Given the description of an element on the screen output the (x, y) to click on. 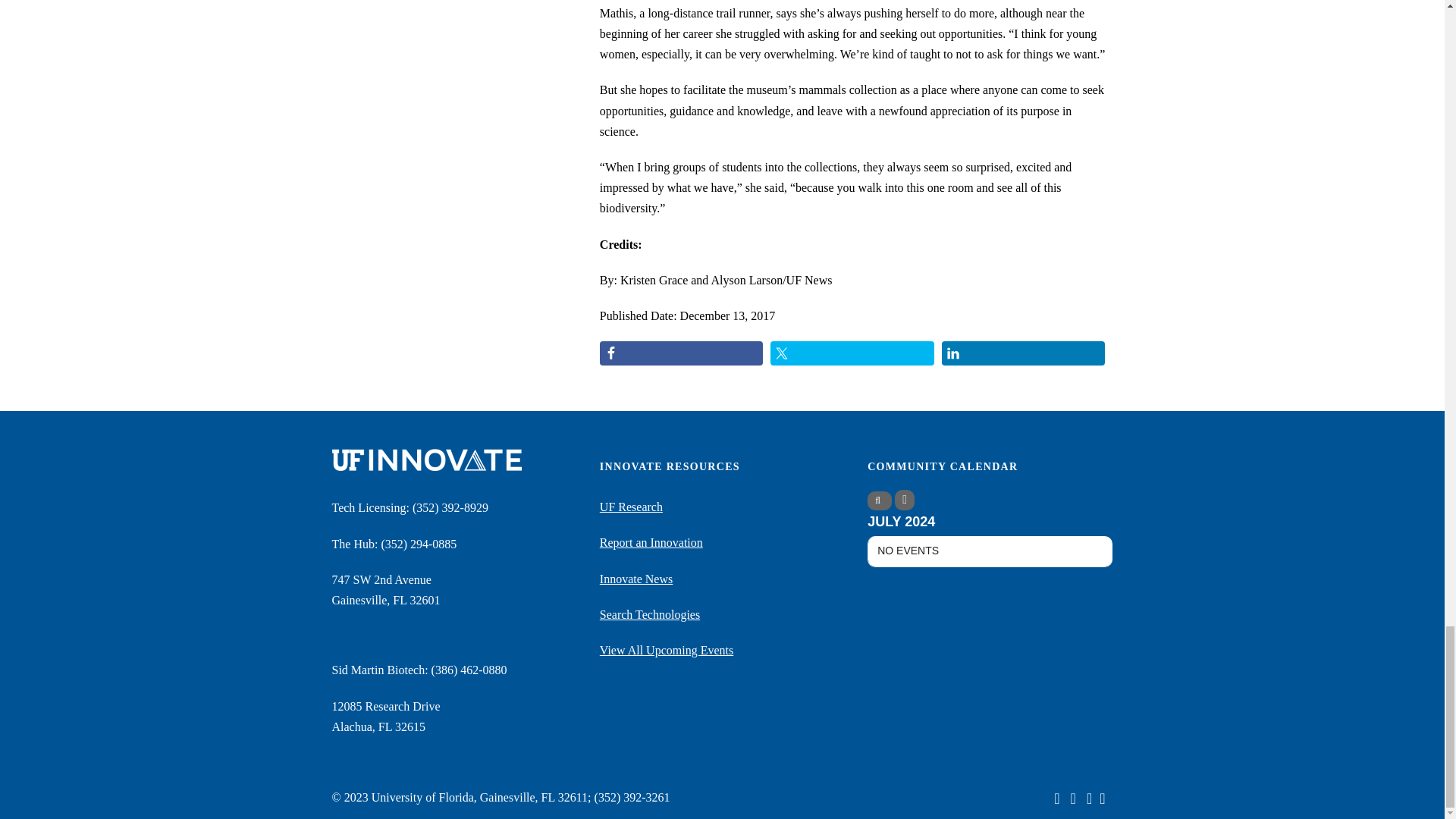
Share on Facebook (680, 353)
Share on Twitter (852, 353)
Share on LinkedIn (1023, 353)
